Given the description of an element on the screen output the (x, y) to click on. 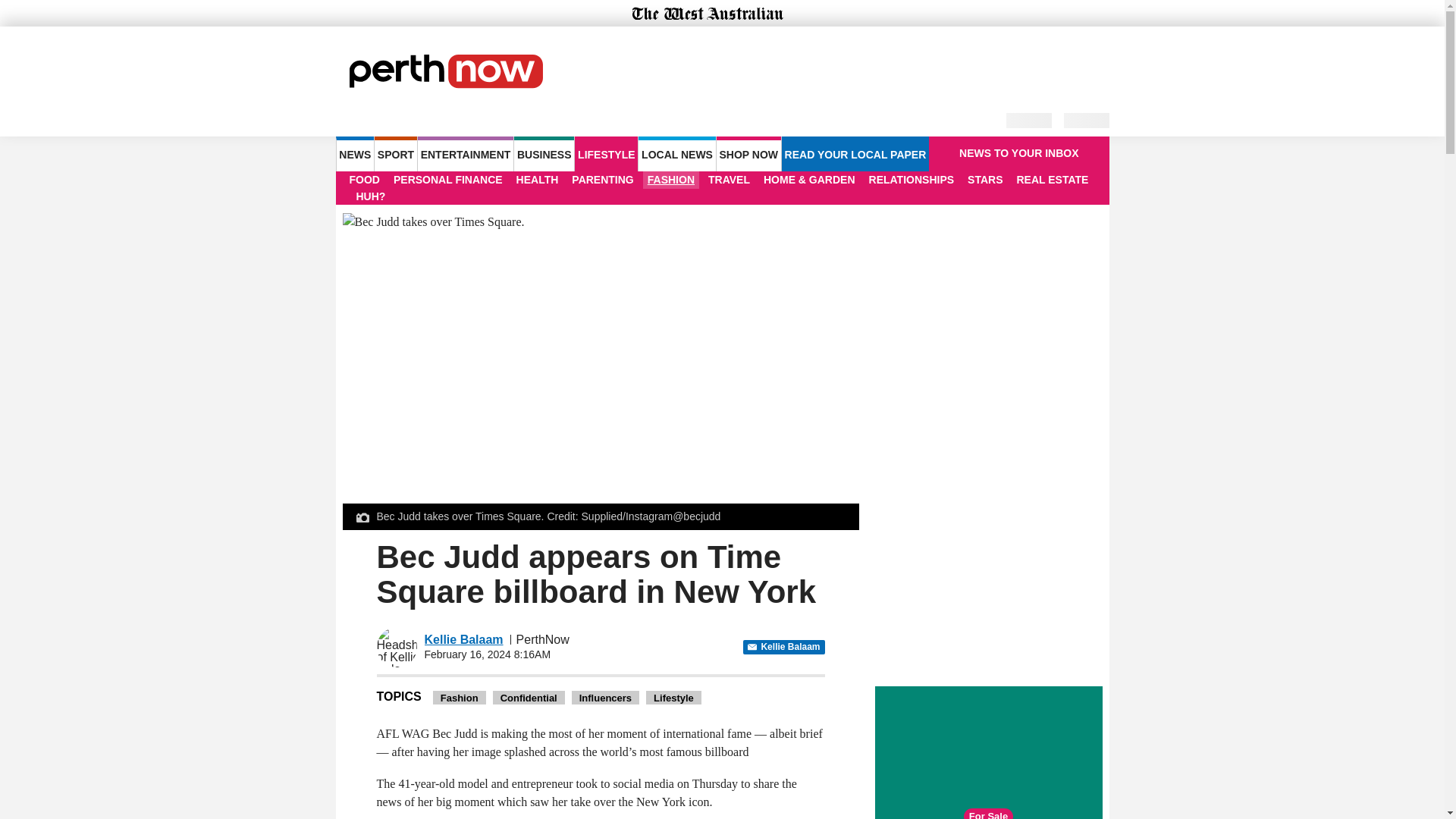
BUSINESS (543, 153)
NEWS (354, 153)
ENTERTAINMENT (465, 153)
SPORT (395, 153)
